Given the description of an element on the screen output the (x, y) to click on. 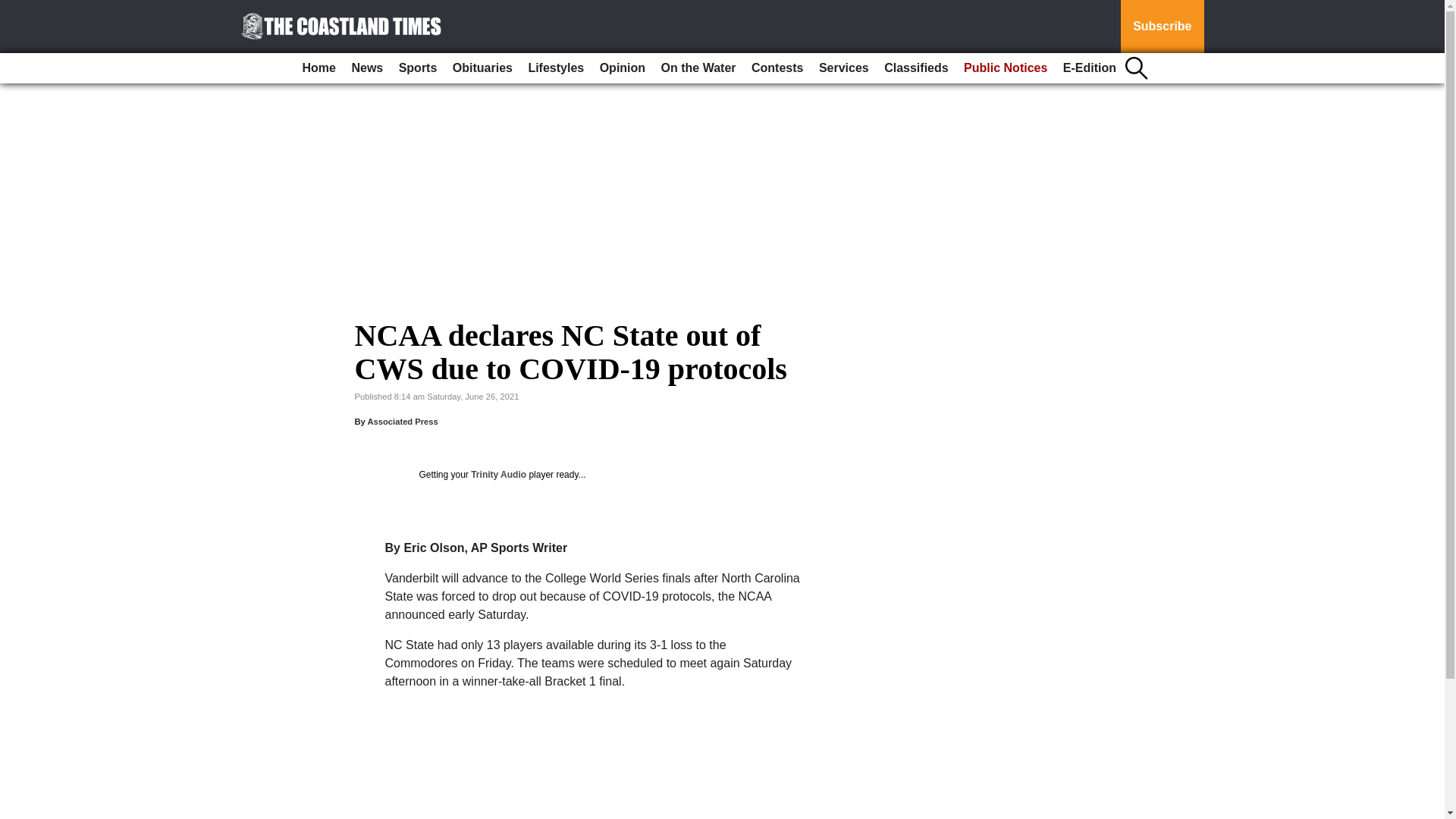
Home (319, 68)
Trinity Audio (497, 474)
Sports (418, 68)
Services (843, 68)
Lifestyles (555, 68)
Public Notices (1005, 68)
Obituaries (482, 68)
Associated Press (402, 420)
Opinion (622, 68)
Go (13, 9)
